Given the description of an element on the screen output the (x, y) to click on. 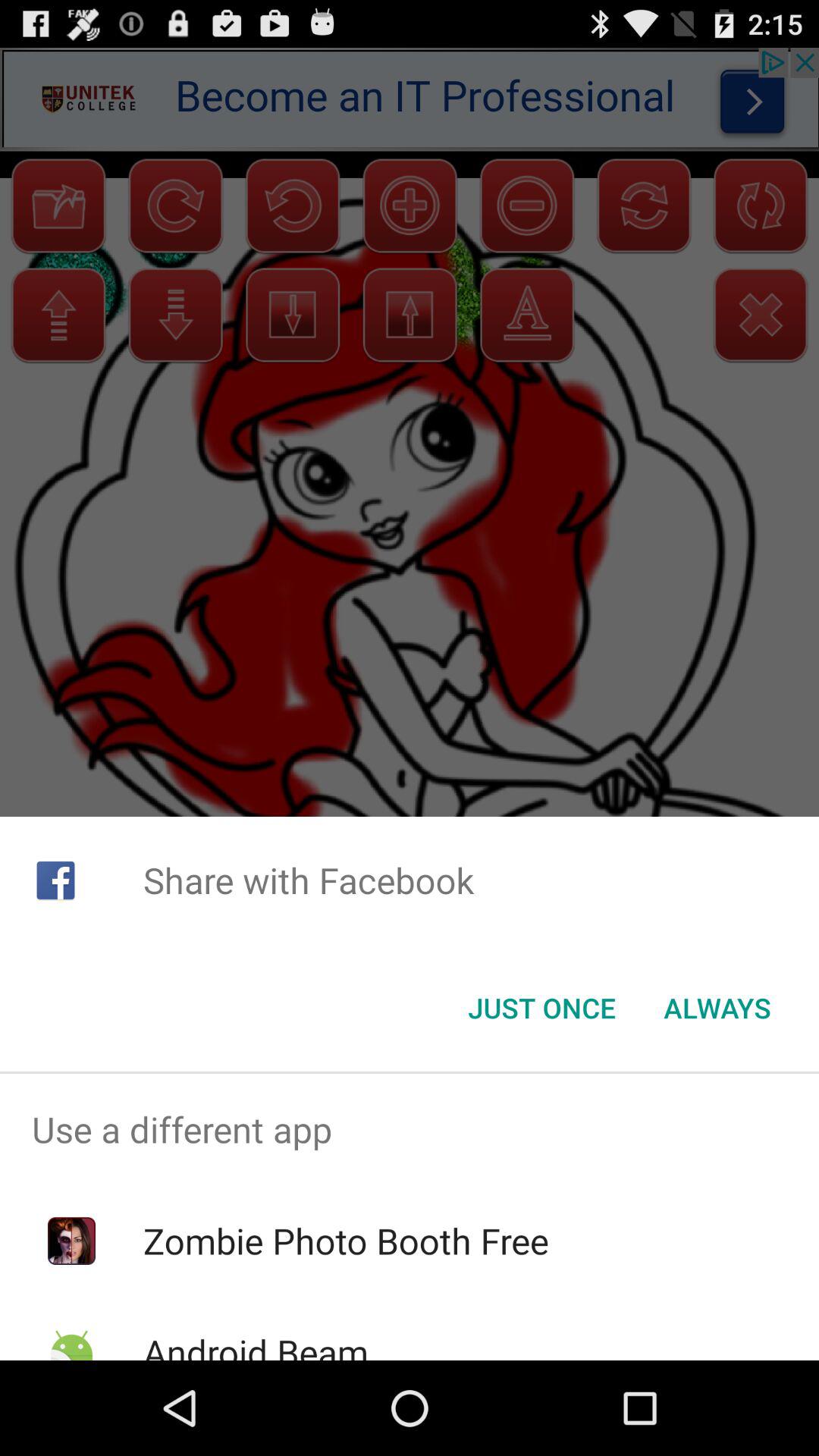
turn off the just once item (541, 1007)
